Given the description of an element on the screen output the (x, y) to click on. 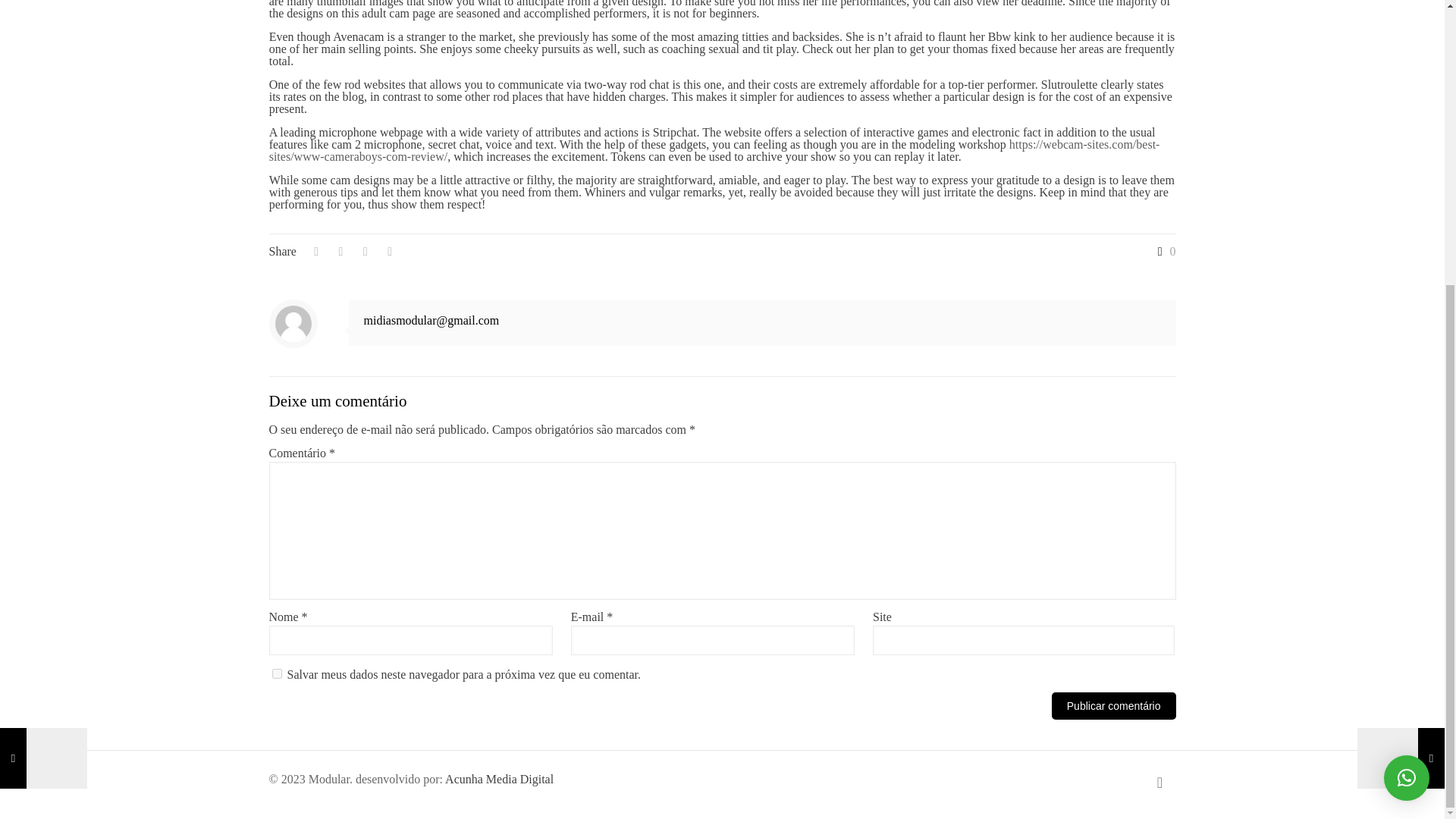
yes (275, 673)
Acunha Media Digital (499, 779)
Instagram (1121, 779)
0 (1162, 251)
